Given the description of an element on the screen output the (x, y) to click on. 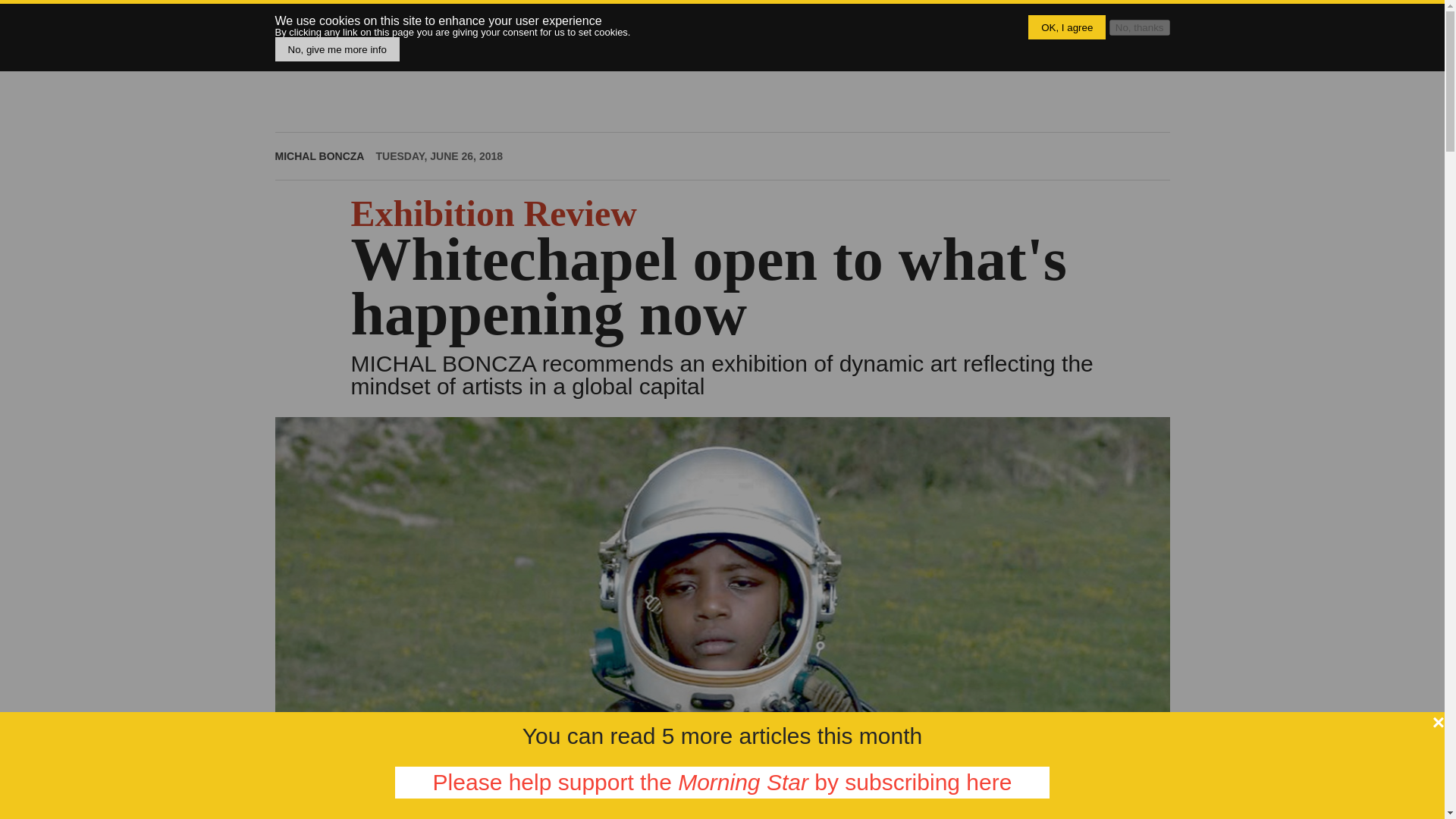
No, thanks (1139, 27)
MICHAL BONCZA (319, 155)
Please help support the Morning Star by subscribing here (721, 782)
Advertise (909, 22)
Contact (1022, 22)
Home (370, 34)
Support Us (830, 22)
Daily Alert (746, 22)
OK, I agree (1066, 27)
Buy the Paper (655, 22)
No, give me more info (336, 48)
Log in (1081, 22)
